Given the description of an element on the screen output the (x, y) to click on. 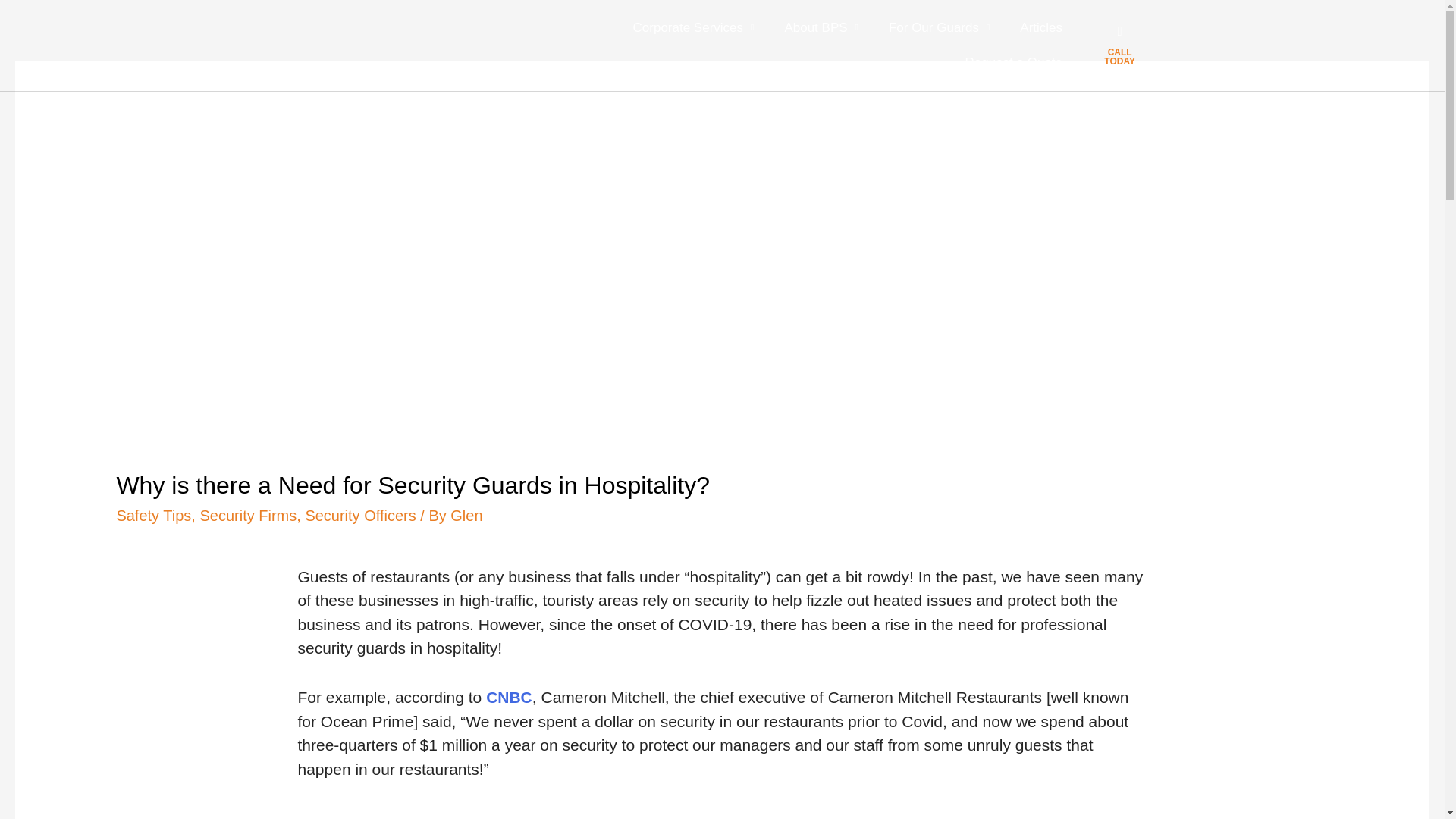
Request a Quote (1014, 62)
Corporate Services (693, 27)
About BPS (820, 27)
For Our Guards (938, 27)
View all posts by Glen (465, 515)
CALL TODAY (1119, 56)
Articles (1040, 27)
